Given the description of an element on the screen output the (x, y) to click on. 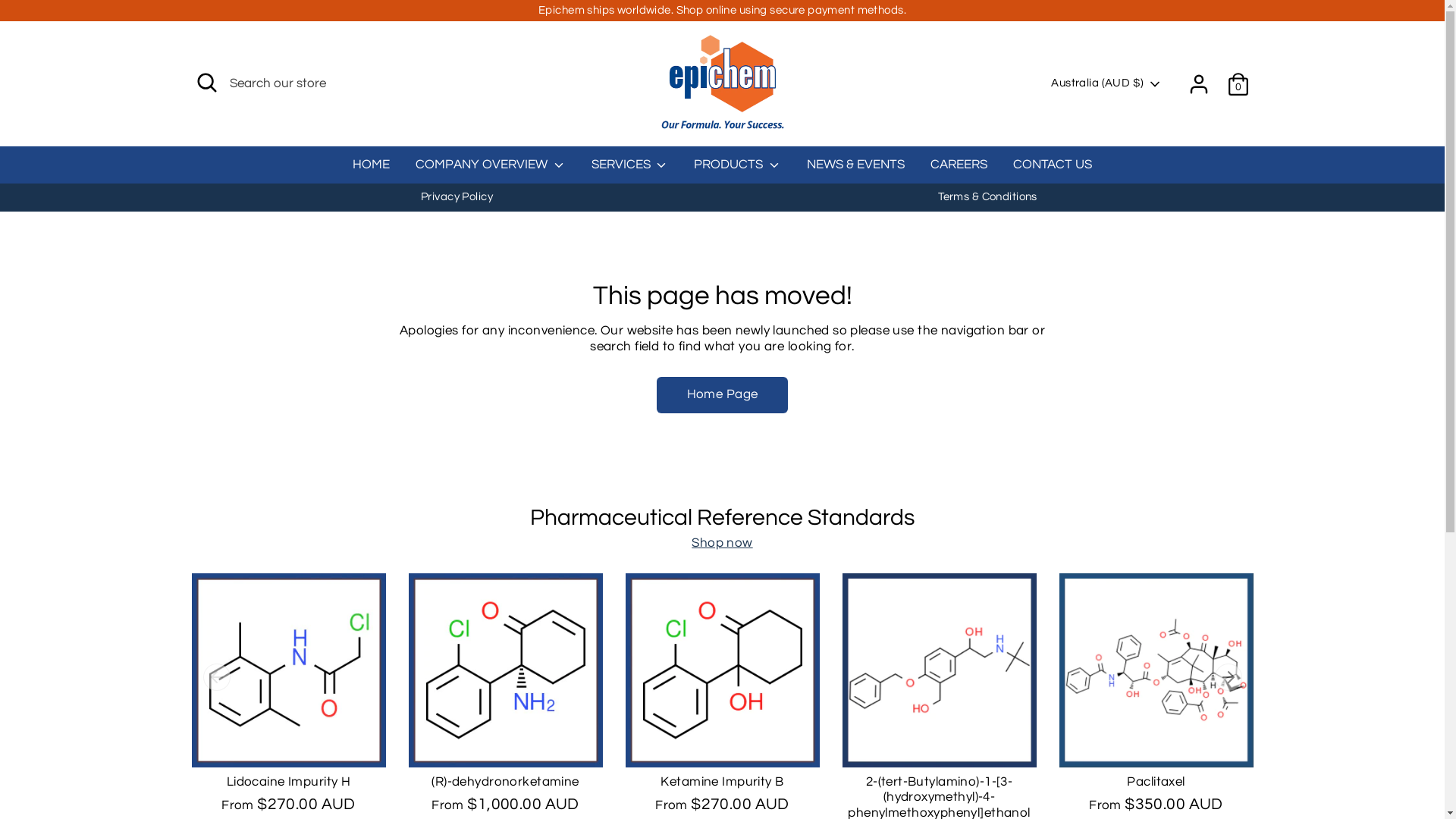
HOME Element type: text (371, 169)
Paclitaxel Element type: text (1155, 781)
PRODUCTS Element type: text (442, 758)
Shop now Element type: text (721, 542)
Ketamine Impurity B Element type: text (721, 781)
CONTACT US Element type: text (1052, 169)
Medicinal Chemistry Element type: text (251, 557)
Analytical Chemistry Element type: text (252, 603)
Australia (AUD $) Element type: text (1186, 733)
Terms & Conditions Element type: text (987, 196)
(R)-dehydronorketamine Element type: text (504, 781)
SERVICES Element type: text (630, 169)
Privacy Policy Element type: text (456, 196)
PRODUCTS Element type: text (737, 169)
Home Page Element type: text (722, 394)
Custom Synthesis & Technical Services Element type: text (307, 580)
NEWS & EVENTS Element type: text (855, 169)
Lidocaine Impurity H Element type: text (288, 781)
CAREERS Element type: text (597, 758)
SERVICES Element type: text (379, 758)
HOME Element type: text (211, 758)
NEWS & EVENTS Element type: text (522, 758)
CONTACT US Element type: text (664, 758)
Epichem Element type: text (295, 779)
0 Element type: text (1237, 84)
Pharmaceutical Reference Materials Element type: text (300, 626)
Sign up Element type: text (893, 434)
COMPANY OVERVIEW Element type: text (490, 169)
COMPANY OVERVIEW Element type: text (290, 758)
CAREERS Element type: text (958, 169)
Australia (AUD $) Element type: text (1106, 83)
